Given the description of an element on the screen output the (x, y) to click on. 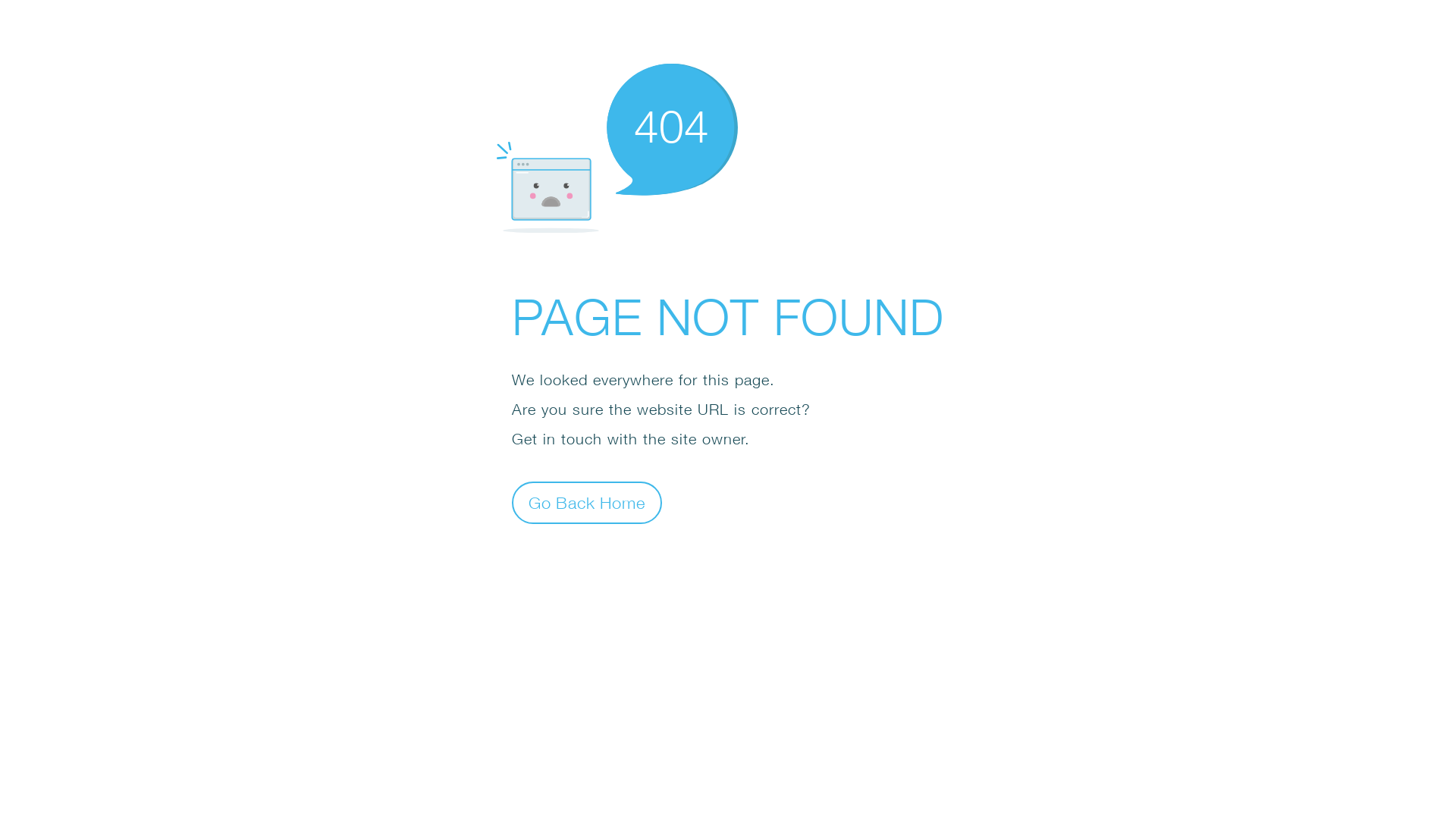
Go Back Home Element type: text (586, 502)
